Given the description of an element on the screen output the (x, y) to click on. 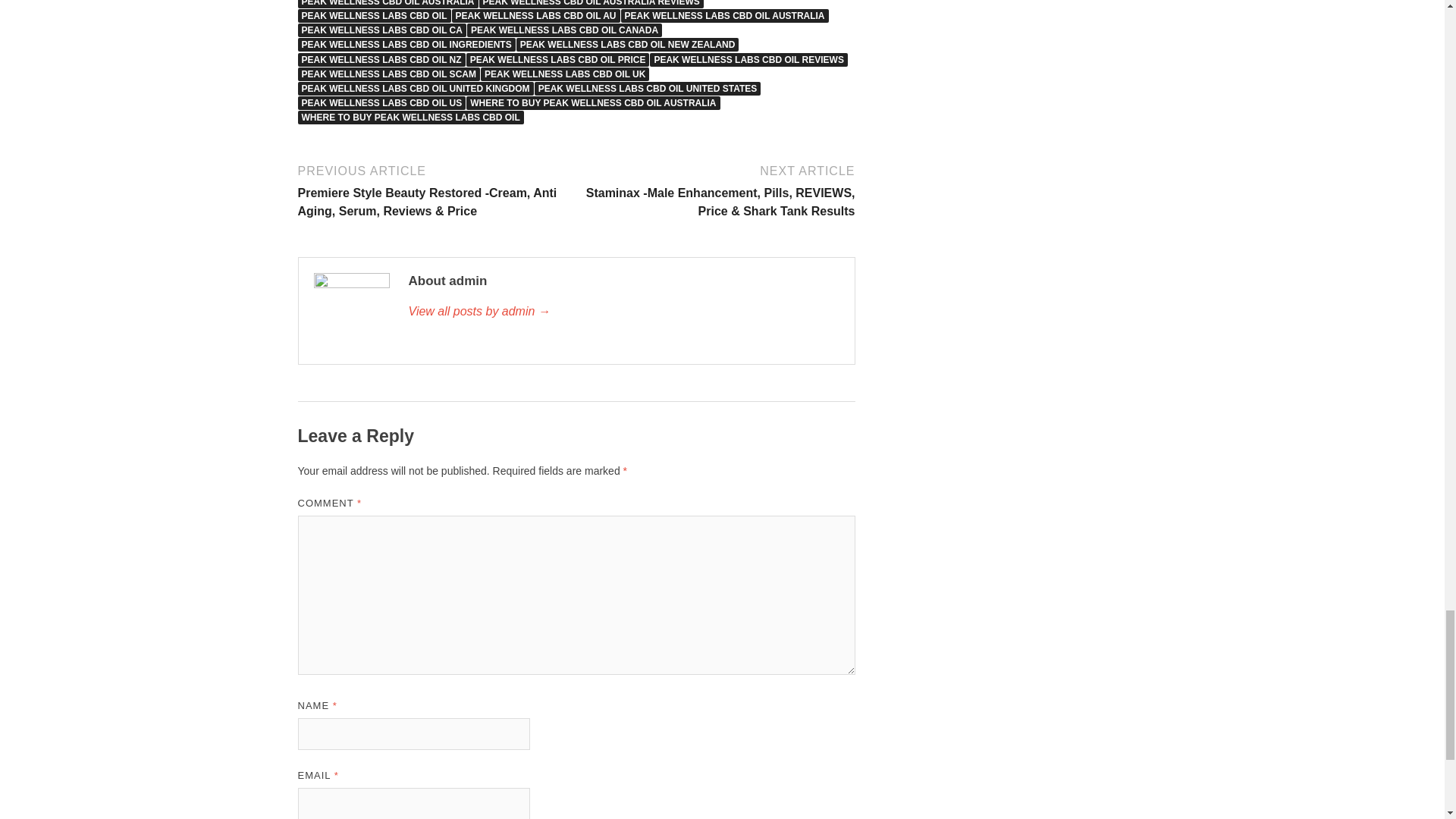
PEAK WELLNESS CBD OIL AUSTRALIA (387, 4)
PEAK WELLNESS LABS CBD OIL NZ (380, 59)
PEAK WELLNESS LABS CBD OIL AU (535, 15)
PEAK WELLNESS LABS CBD OIL SCAM (388, 74)
PEAK WELLNESS LABS CBD OIL UNITED STATES (647, 88)
admin (622, 311)
PEAK WELLNESS LABS CBD OIL (373, 15)
PEAK WELLNESS LABS CBD OIL REVIEWS (748, 59)
PEAK WELLNESS LABS CBD OIL INGREDIENTS (406, 44)
PEAK WELLNESS LABS CBD OIL PRICE (557, 59)
PEAK WELLNESS LABS CBD OIL CANADA (564, 29)
PEAK WELLNESS LABS CBD OIL AUSTRALIA (724, 15)
PEAK WELLNESS LABS CBD OIL UNITED KINGDOM (414, 88)
PEAK WELLNESS LABS CBD OIL NEW ZEALAND (627, 44)
PEAK WELLNESS CBD OIL AUSTRALIA REVIEWS (591, 4)
